Given the description of an element on the screen output the (x, y) to click on. 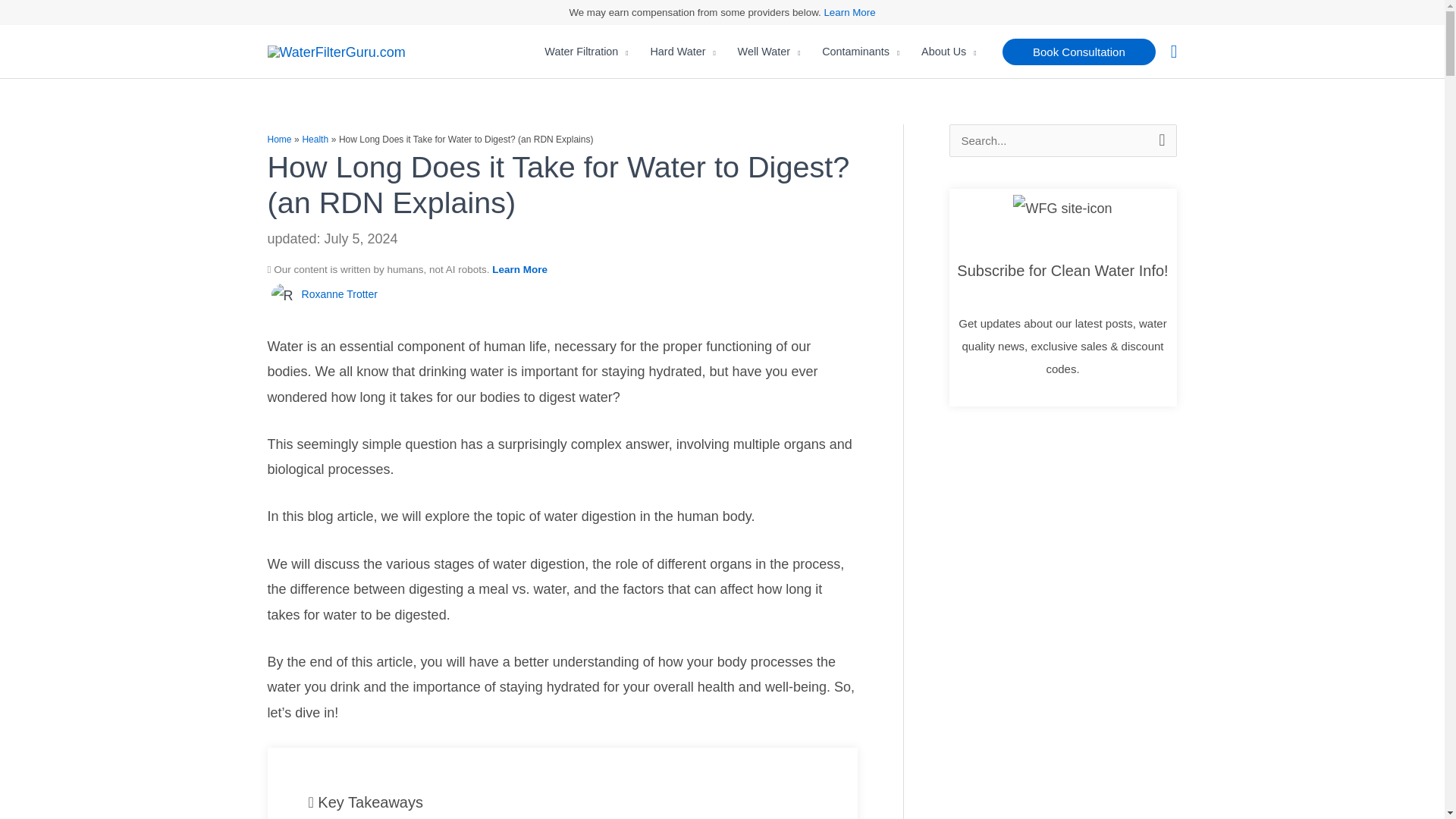
Well Water (768, 51)
Roxanne Trotter (339, 294)
Learn More (849, 12)
Water Filtration (586, 51)
Hard Water (682, 51)
Search (1158, 139)
Search (1158, 139)
